Given the description of an element on the screen output the (x, y) to click on. 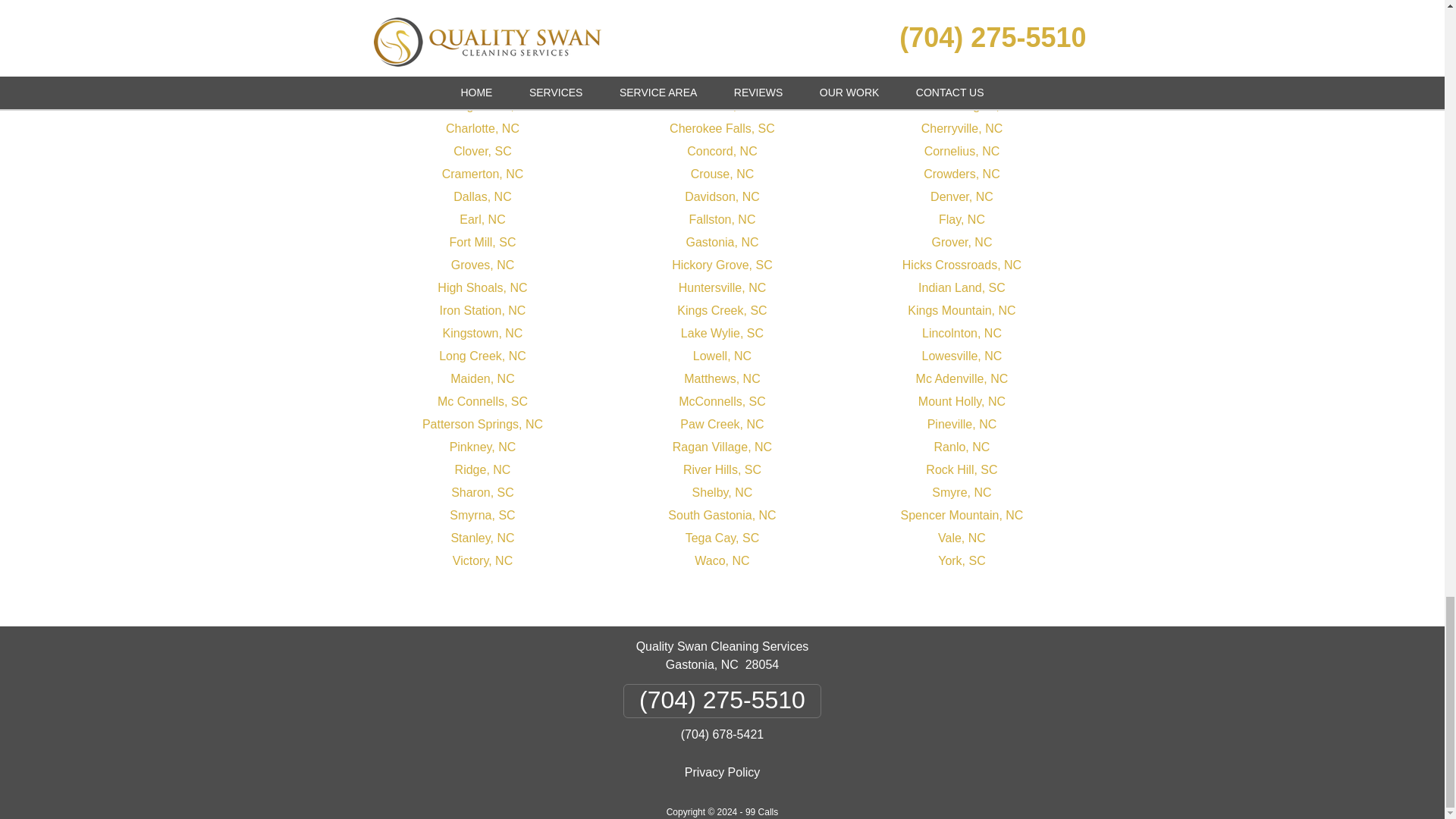
Alexis, NC (482, 60)
Belmont, NC (722, 60)
Bessemer City, NC (962, 60)
Blacksburg, SC (482, 82)
